Given the description of an element on the screen output the (x, y) to click on. 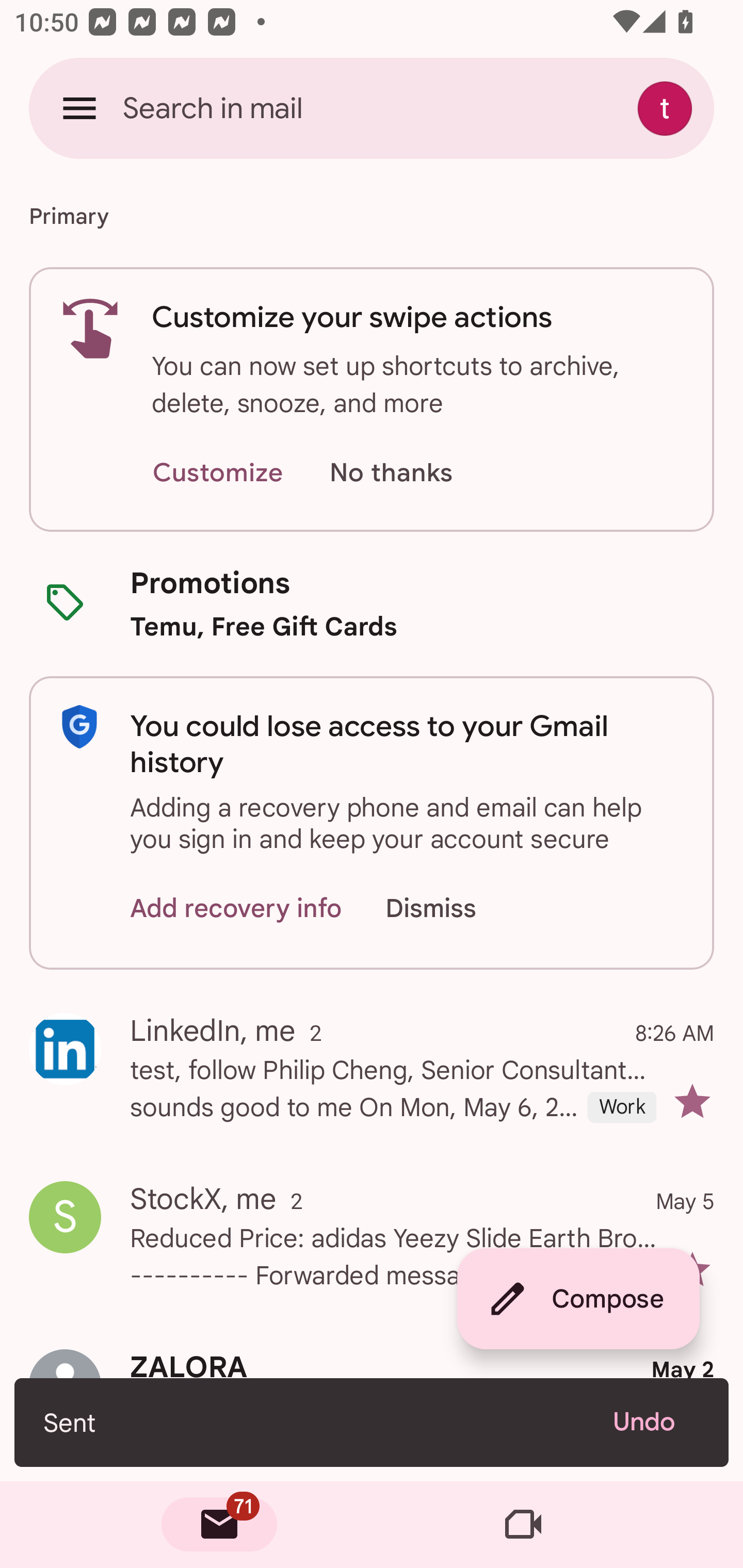
Open navigation drawer (79, 108)
Customize (217, 473)
No thanks (390, 473)
Promotions Temu, Free Gift Cards (371, 603)
Add recovery info (235, 908)
Dismiss (449, 908)
Compose (577, 1299)
Undo (655, 1422)
Meet (523, 1524)
